Given the description of an element on the screen output the (x, y) to click on. 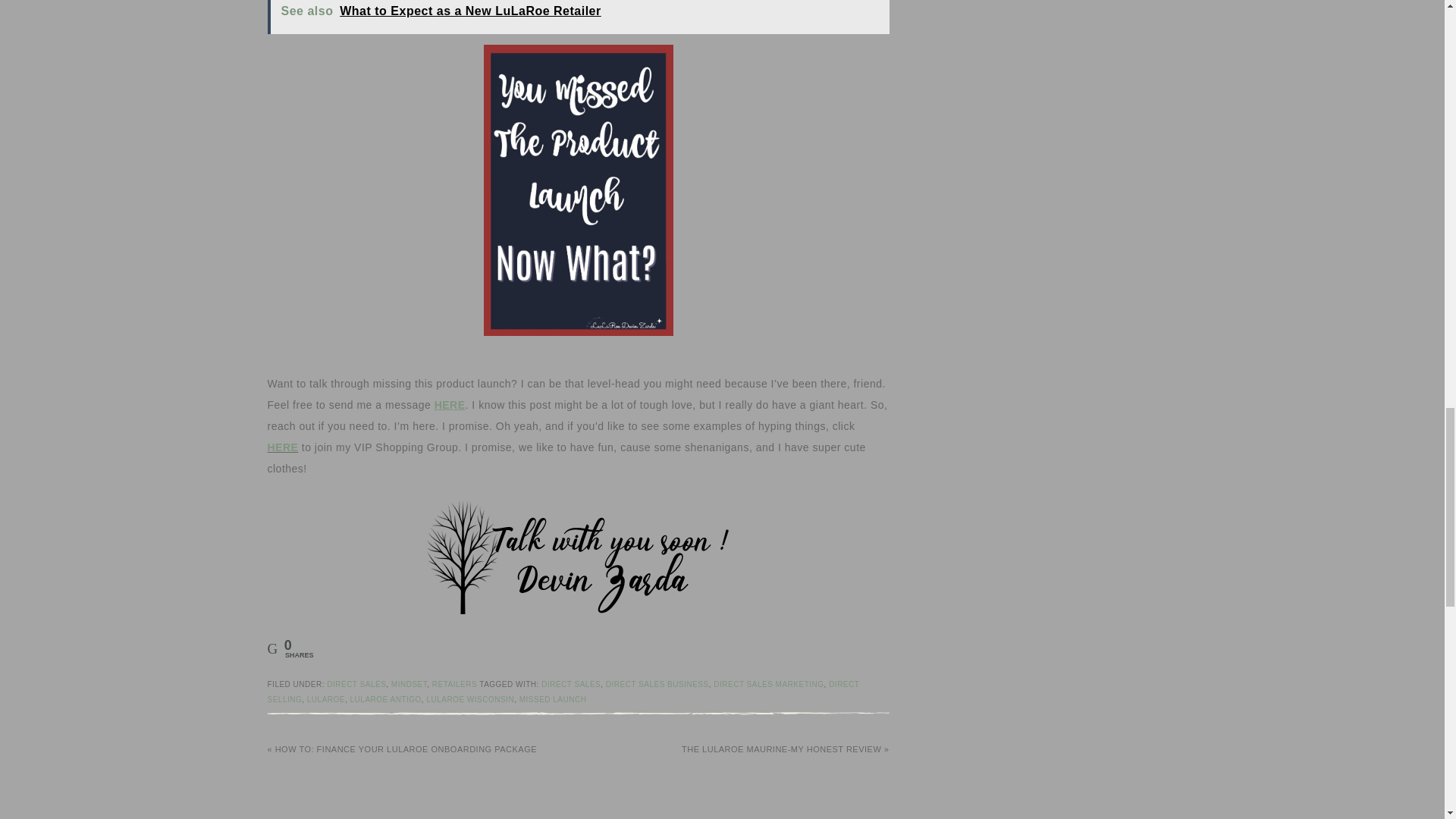
RETAILERS (454, 684)
DIRECT SALES (570, 684)
LULAROE WISCONSIN (469, 699)
DIRECT SALES BUSINESS (657, 684)
See also  What to Expect as a New LuLaRoe Retailer (577, 17)
LULAROE (326, 699)
HERE (282, 447)
DIRECT SALES (355, 684)
LULAROE ANTIGO (386, 699)
MISSED LAUNCH (552, 699)
